Given the description of an element on the screen output the (x, y) to click on. 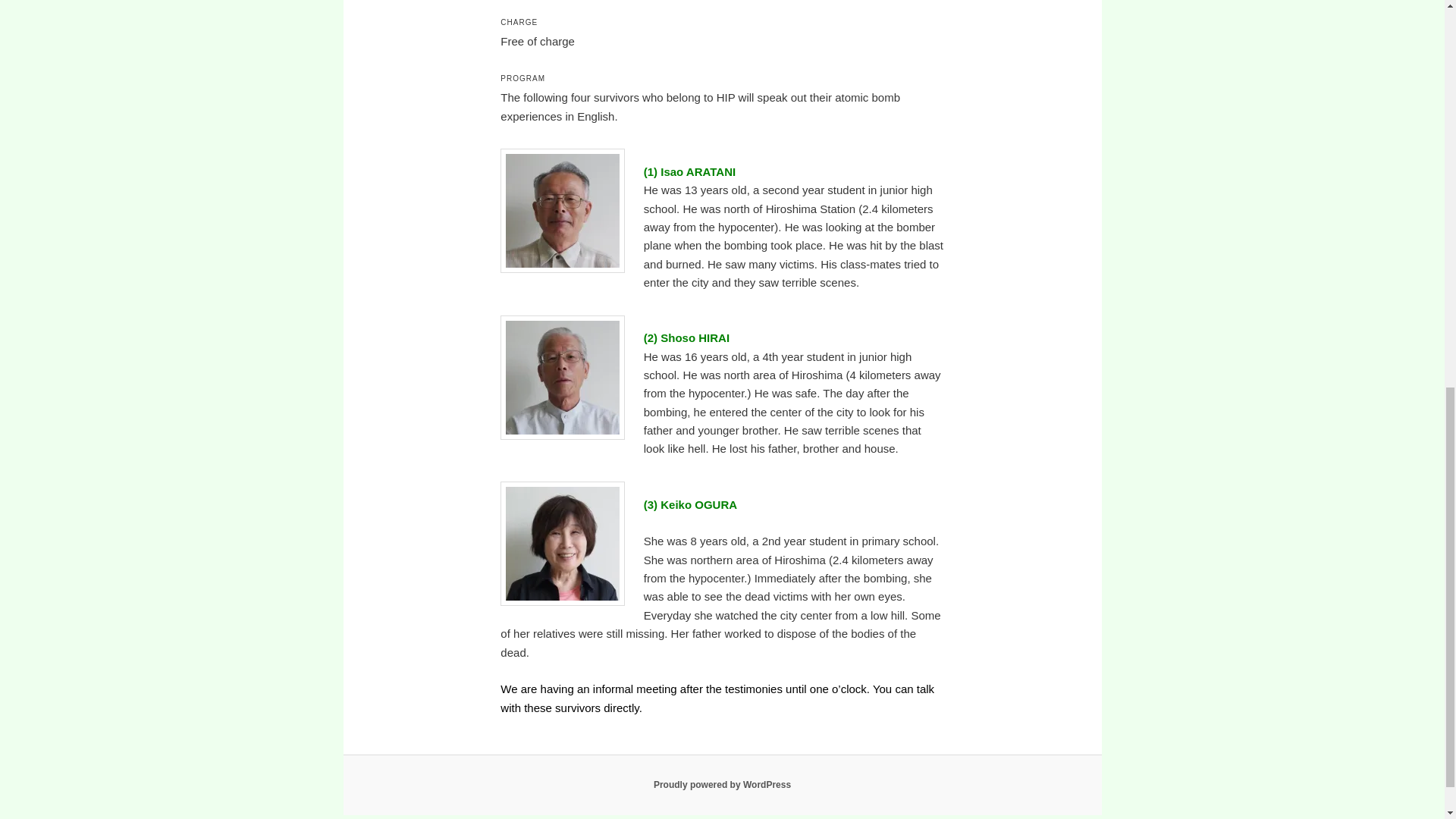
OGURA Keiko (562, 543)
ARATANI Isao (562, 210)
HIRAI Shoso (562, 377)
Semantic Personal Publishing Platform (721, 784)
Proudly powered by WordPress (721, 784)
